Given the description of an element on the screen output the (x, y) to click on. 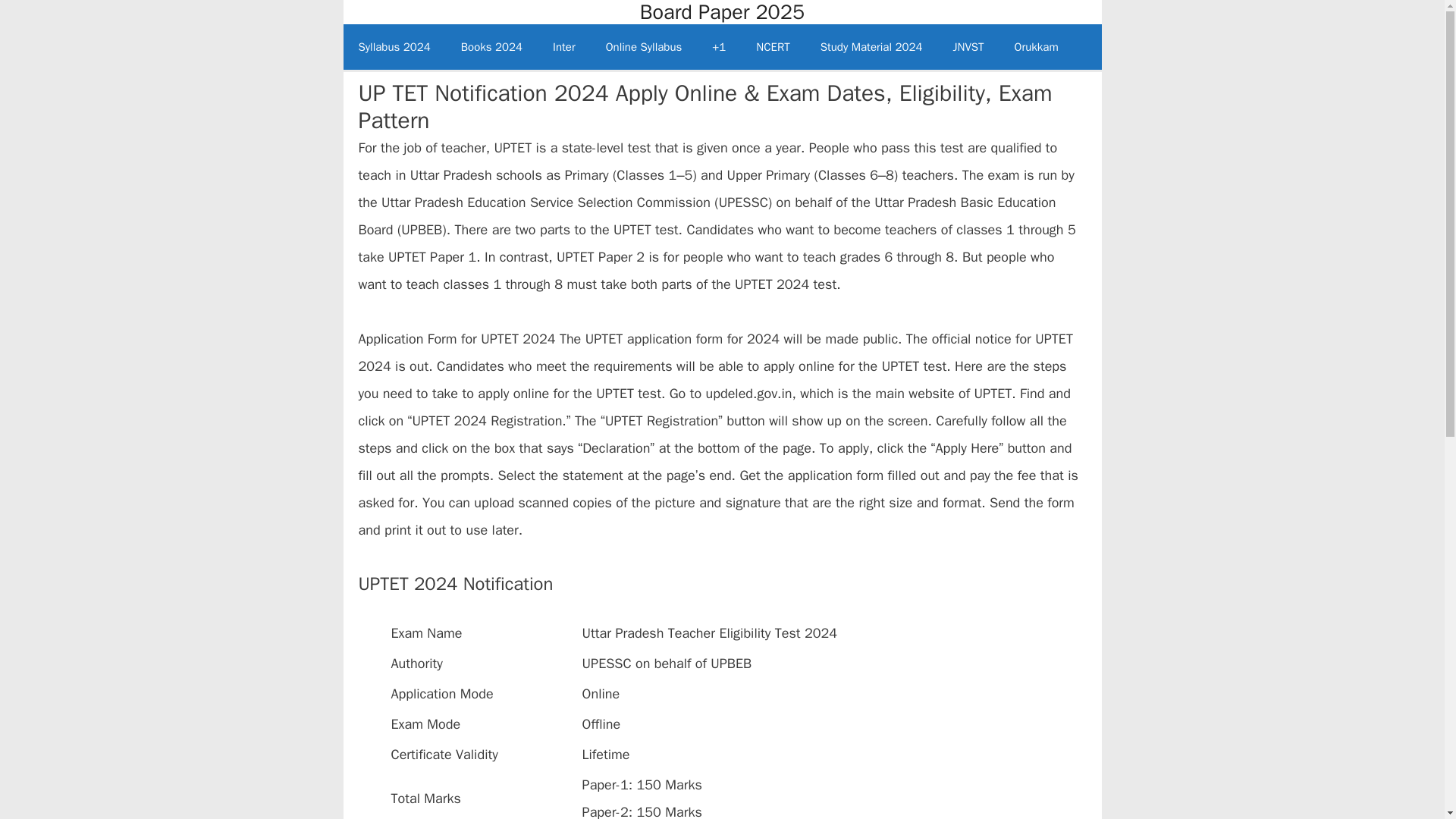
Board Paper 2025 (722, 12)
Online Syllabus (644, 46)
Books 2024 (491, 46)
JNVST (967, 46)
NCERT (773, 46)
Orukkam (1036, 46)
Inter (564, 46)
Study Material 2024 (871, 46)
Syllabus 2024 (393, 46)
